Given the description of an element on the screen output the (x, y) to click on. 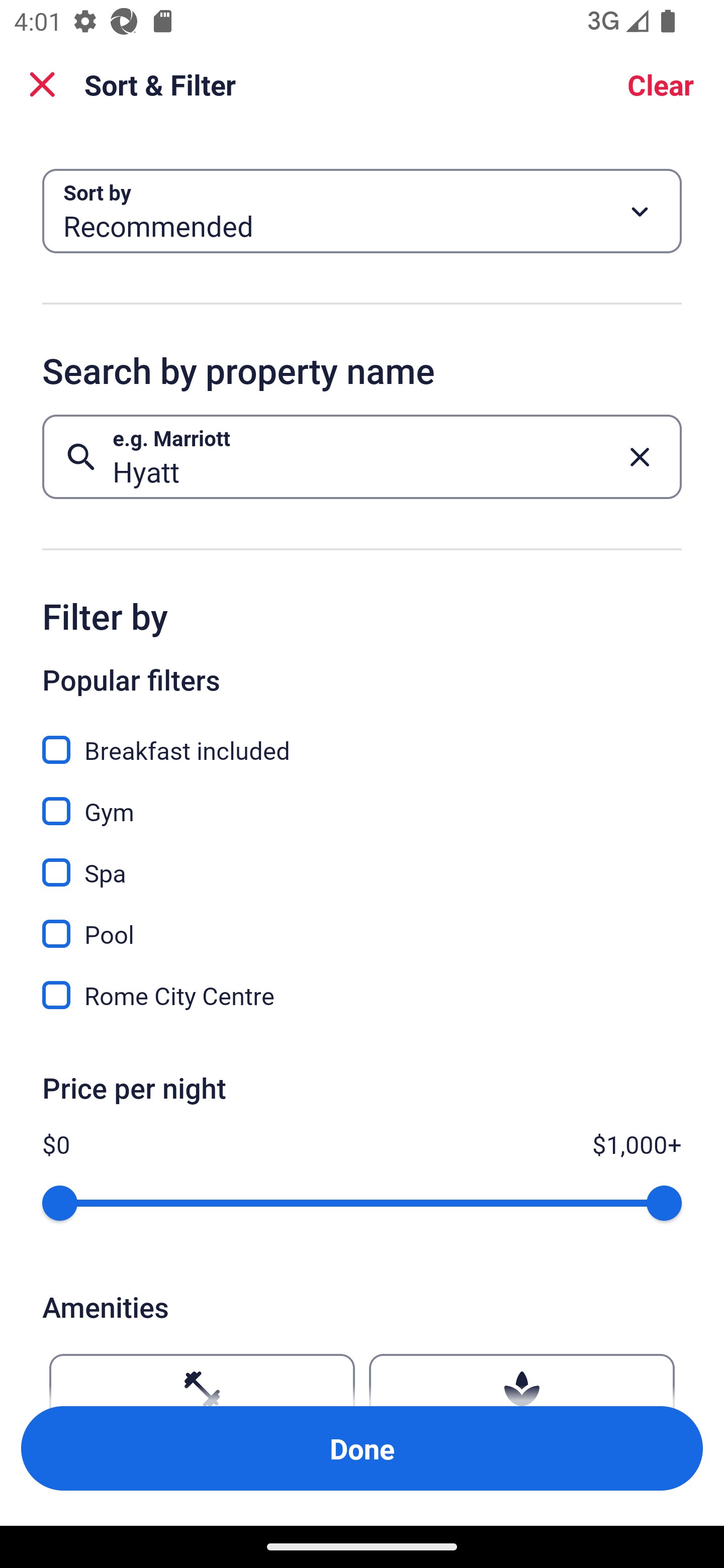
Close Sort and Filter (42, 84)
Clear (660, 84)
Sort by Button Recommended (361, 211)
e.g. Marriott Button Hyatt (361, 455)
Breakfast included, Breakfast included (361, 738)
Gym, Gym (361, 800)
Spa, Spa (361, 861)
Pool, Pool (361, 922)
Rome City Centre, Rome City Centre (361, 995)
Apply and close Sort and Filter Done (361, 1448)
